Given the description of an element on the screen output the (x, y) to click on. 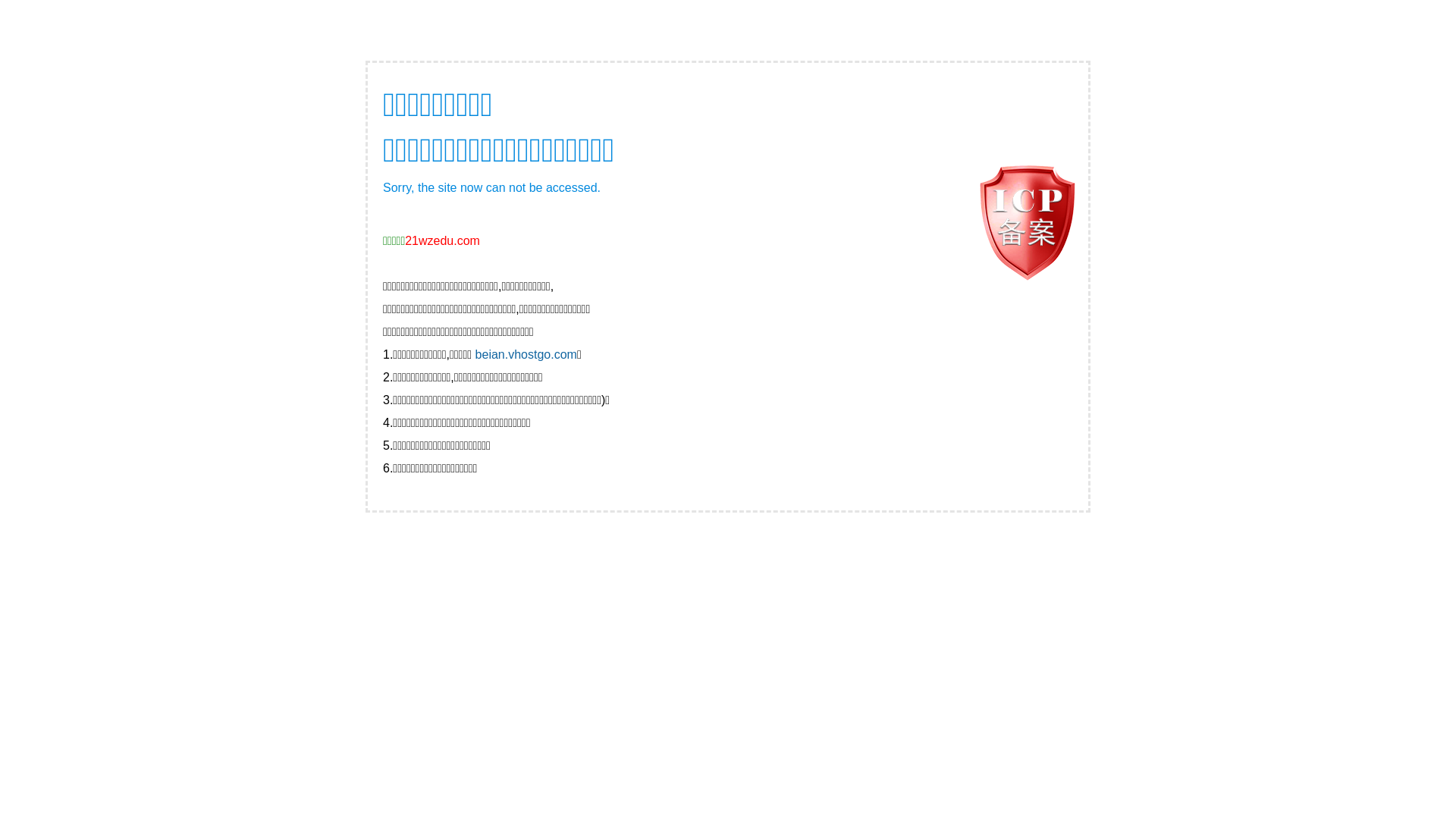
beian.vhostgo.com Element type: text (526, 354)
